Given the description of an element on the screen output the (x, y) to click on. 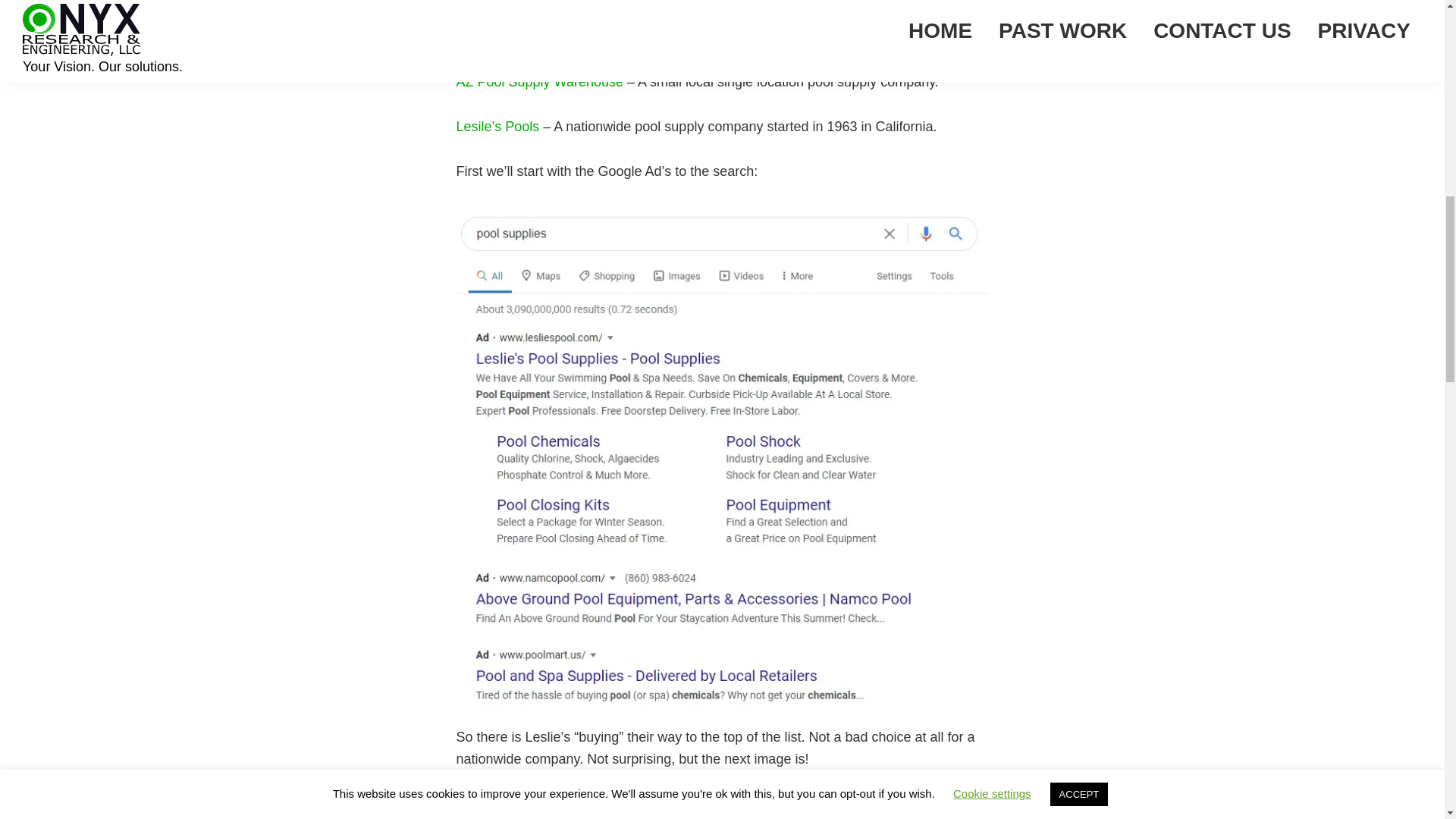
AZ Pool Supply Warehouse (540, 81)
Google natural search results (722, 806)
